Given the description of an element on the screen output the (x, y) to click on. 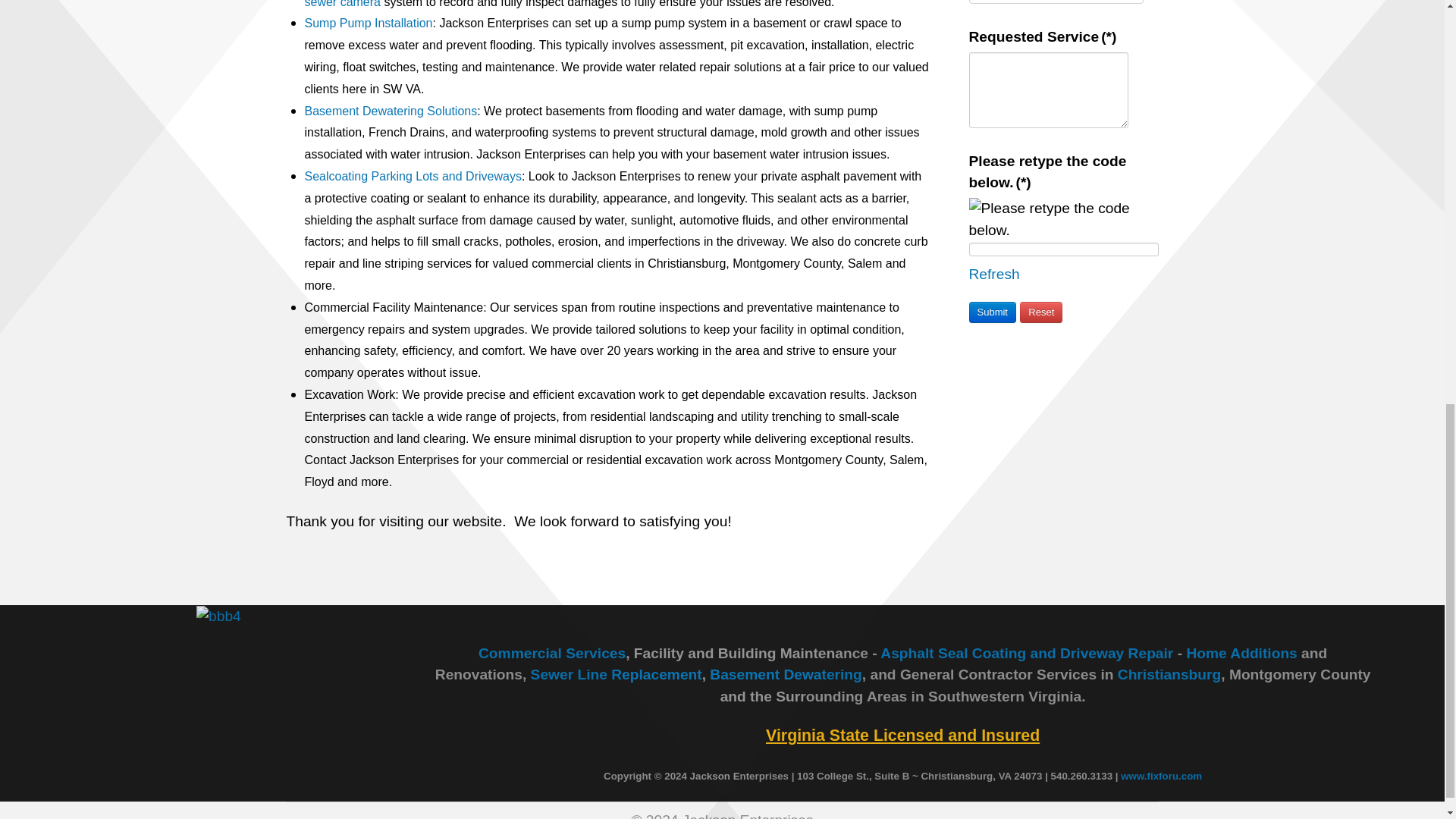
Sealcoating Parking Lots and Driveways (412, 175)
sewer camera (342, 4)
Sump Pump Installation (368, 22)
Reset (1041, 312)
Submit (992, 312)
Basement Dewatering Solutions (390, 110)
